Given the description of an element on the screen output the (x, y) to click on. 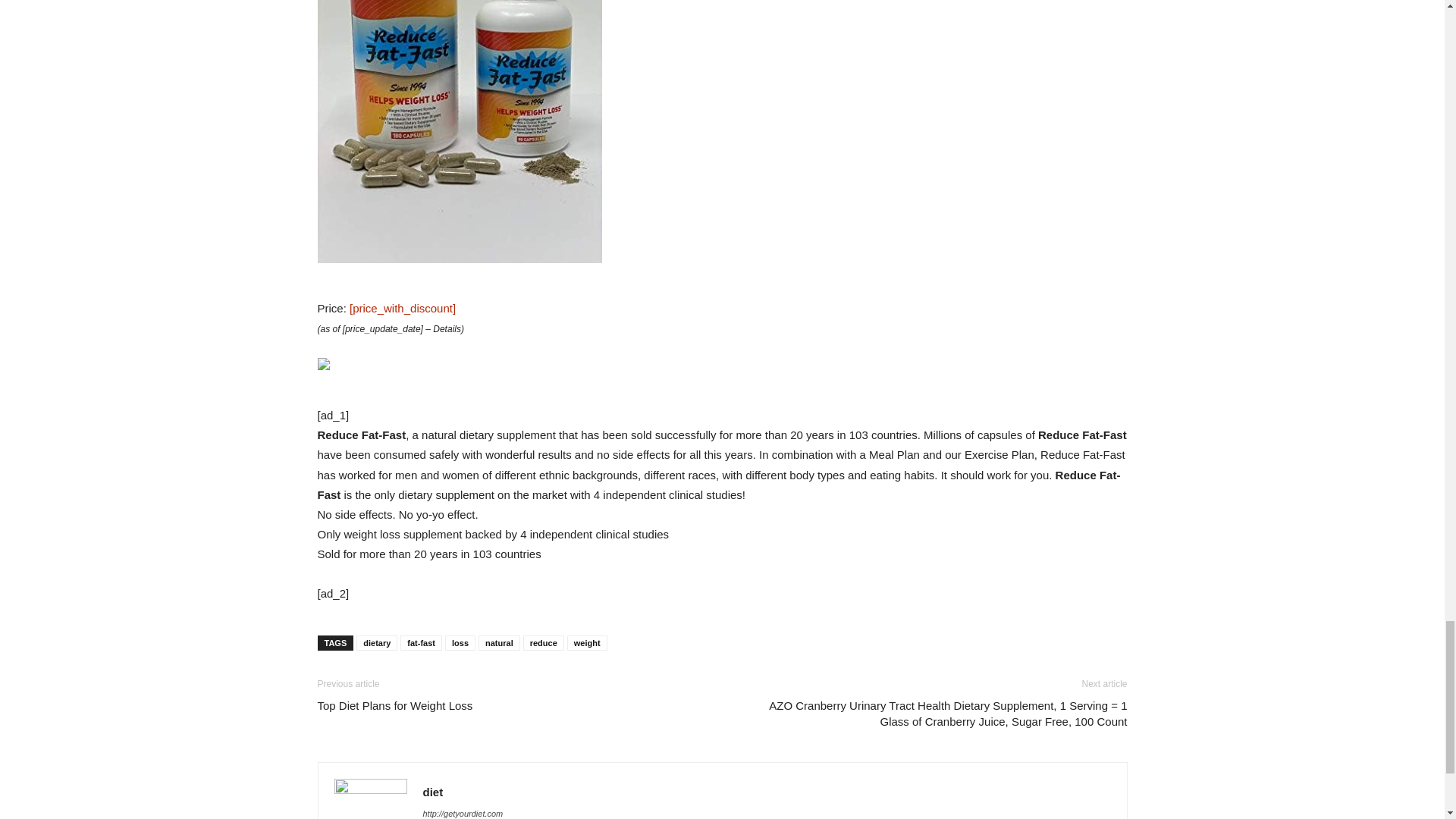
fat-fast (421, 642)
natural (499, 642)
reduce (543, 642)
loss (460, 642)
dietary (376, 642)
weight (587, 642)
